Given the description of an element on the screen output the (x, y) to click on. 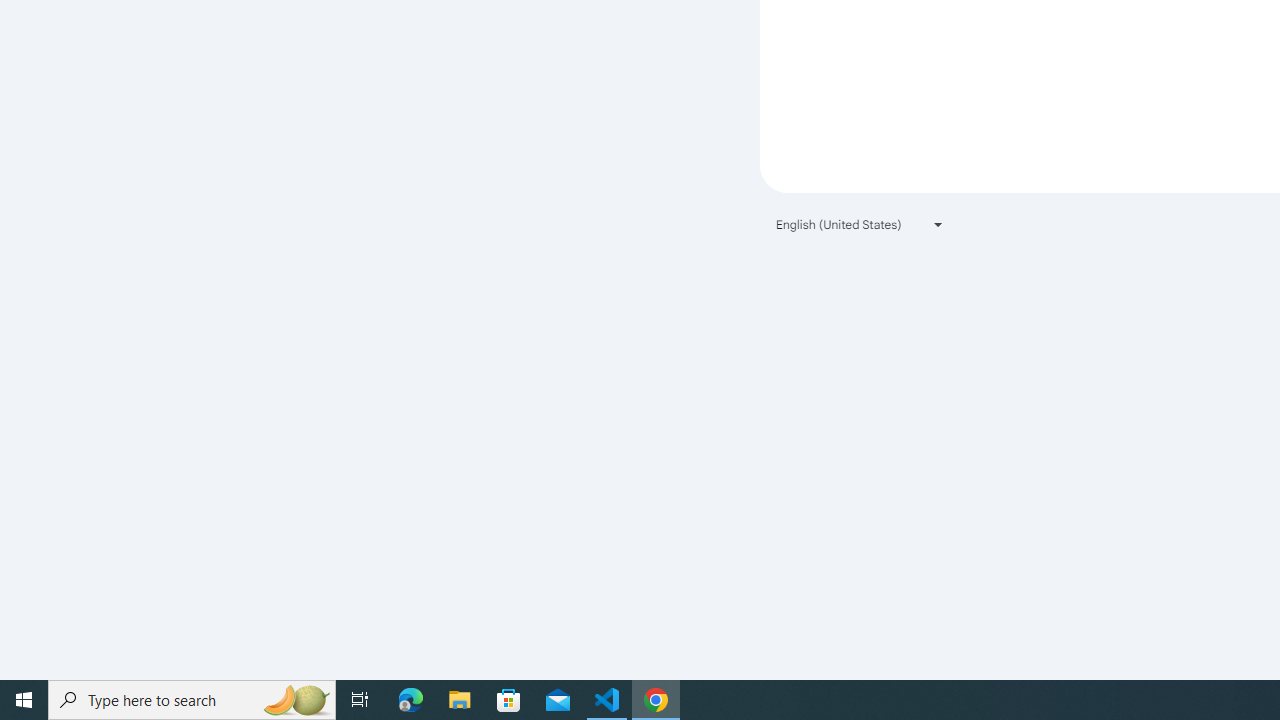
English (United States) (860, 224)
